Given the description of an element on the screen output the (x, y) to click on. 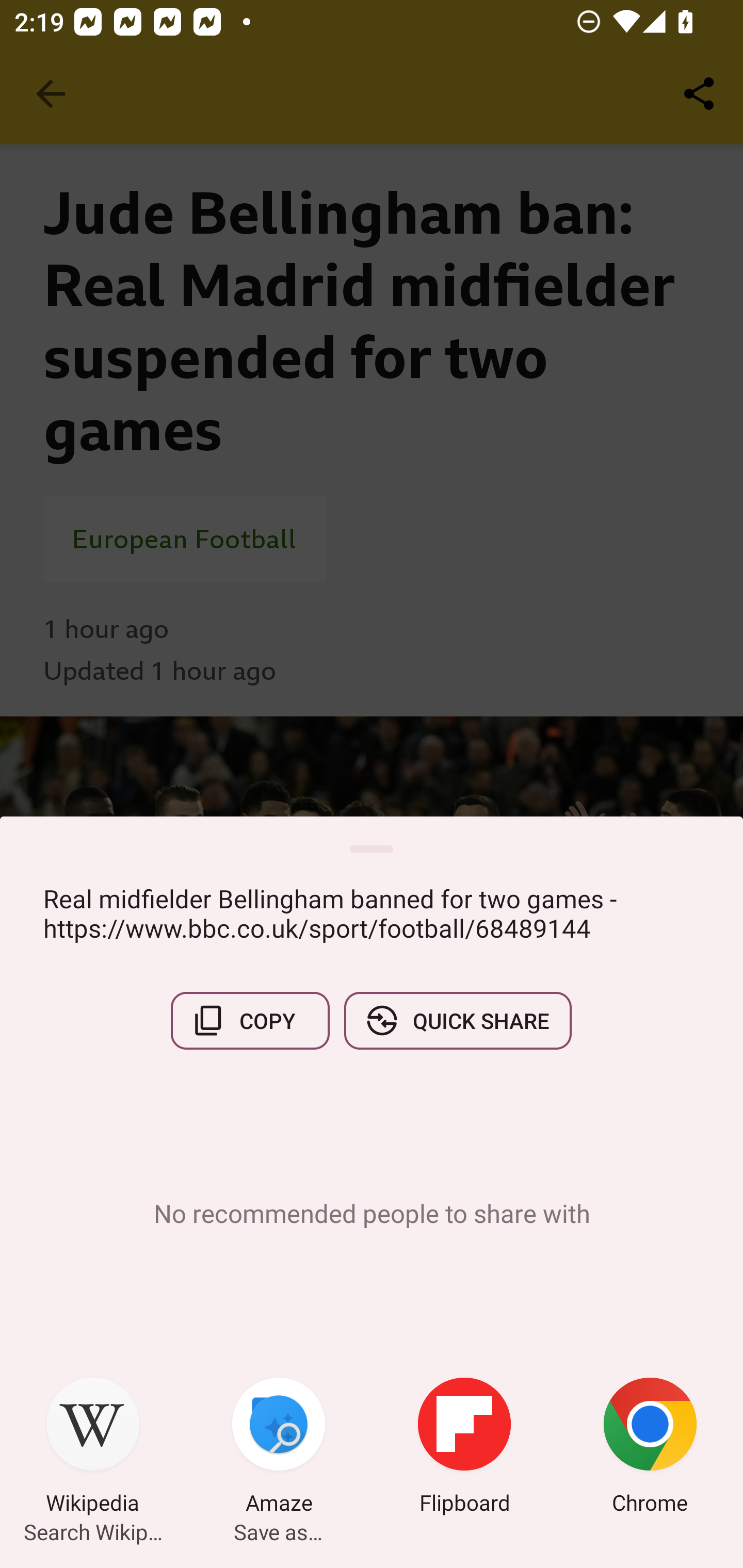
COPY (249, 1020)
QUICK SHARE (457, 1020)
Wikipedia Search Wikipedia (92, 1448)
Amaze Save as… (278, 1448)
Flipboard (464, 1448)
Chrome (650, 1448)
